Given the description of an element on the screen output the (x, y) to click on. 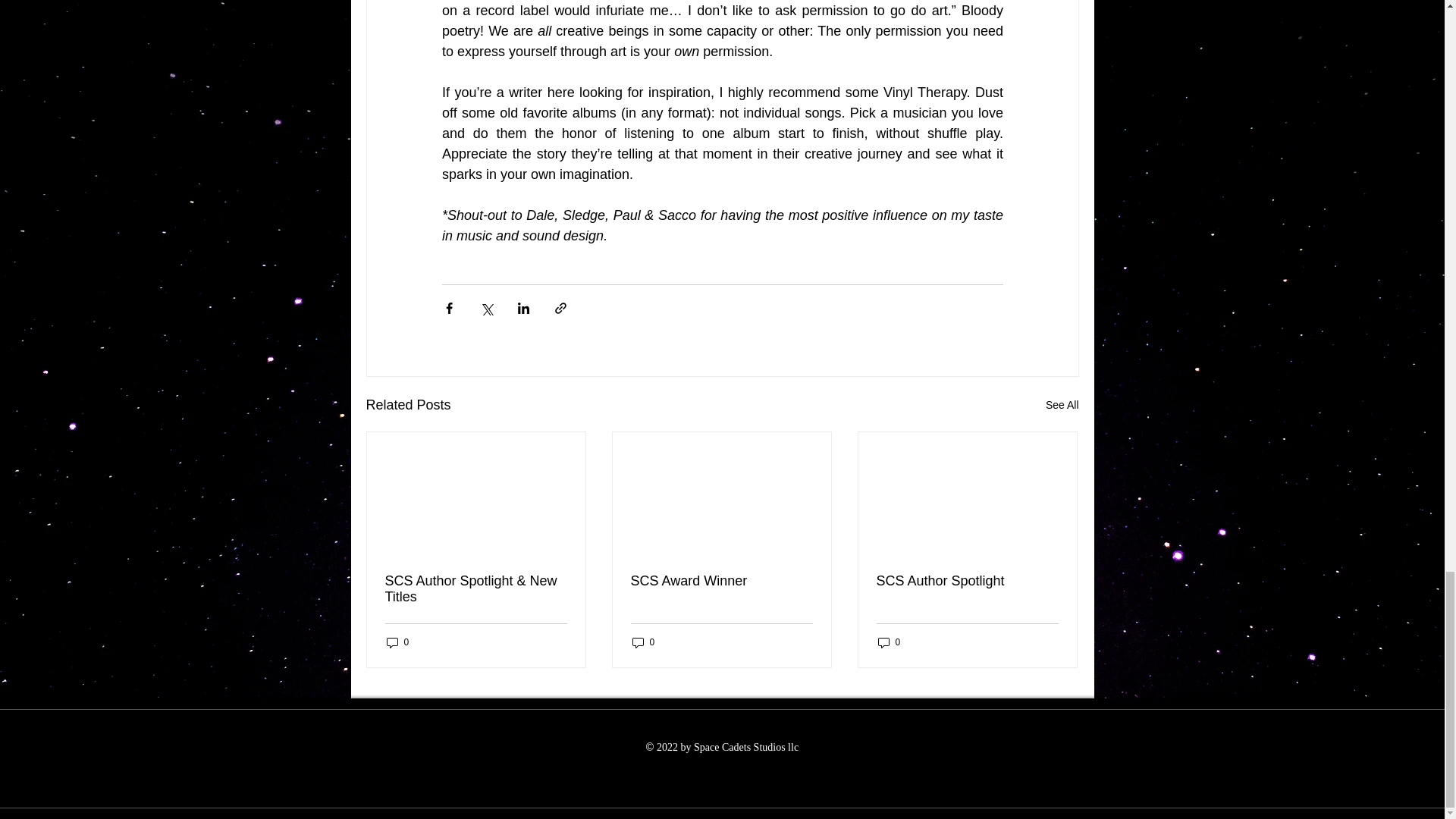
0 (889, 641)
0 (643, 641)
0 (397, 641)
See All (1061, 404)
SCS Author Spotlight (967, 580)
SCS Award Winner (721, 580)
